Given the description of an element on the screen output the (x, y) to click on. 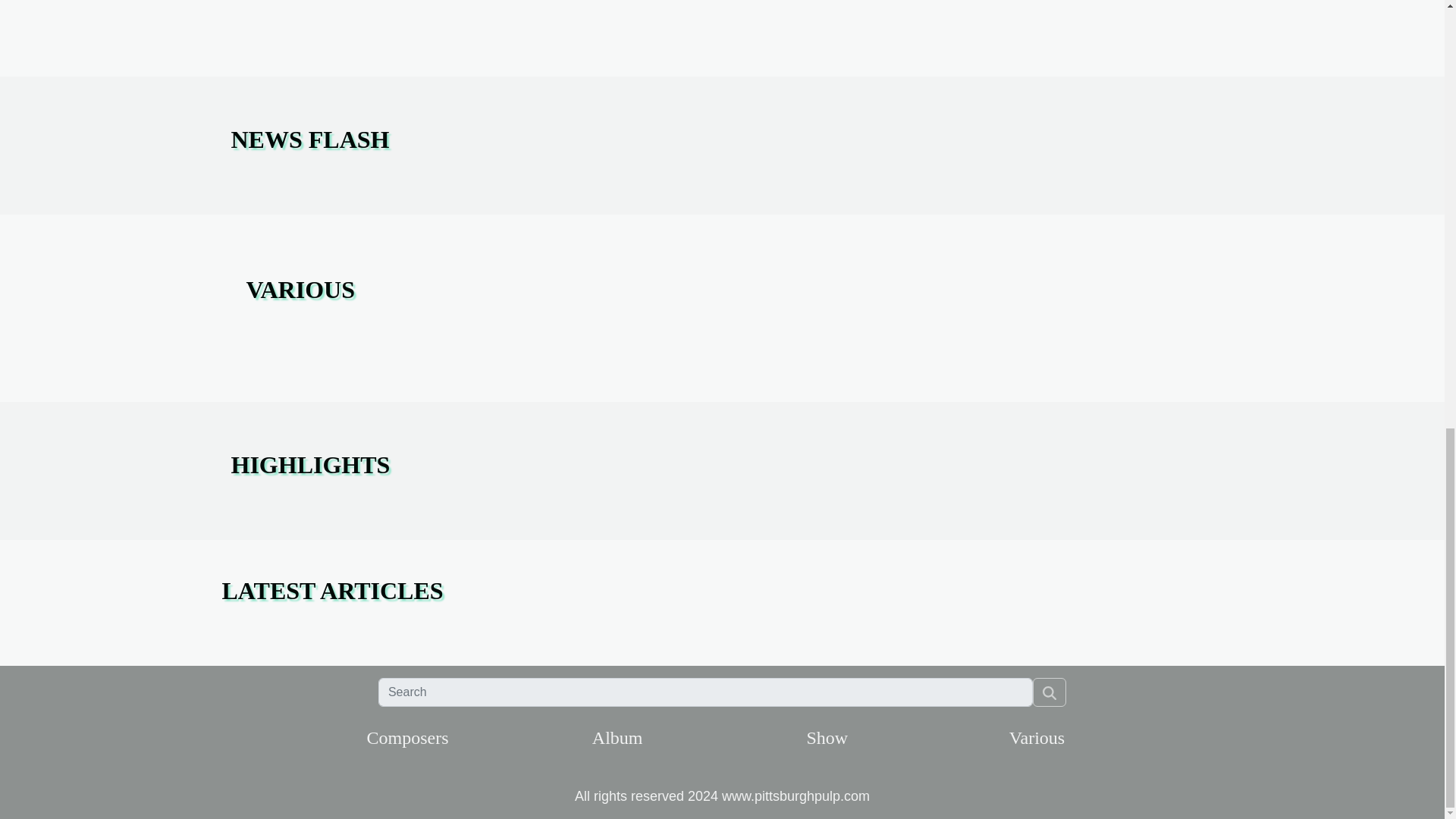
Show (826, 737)
Composers (407, 737)
Various (1036, 737)
Album (617, 737)
Album (617, 737)
Composers (407, 737)
Show (826, 737)
Various (1036, 737)
